Given the description of an element on the screen output the (x, y) to click on. 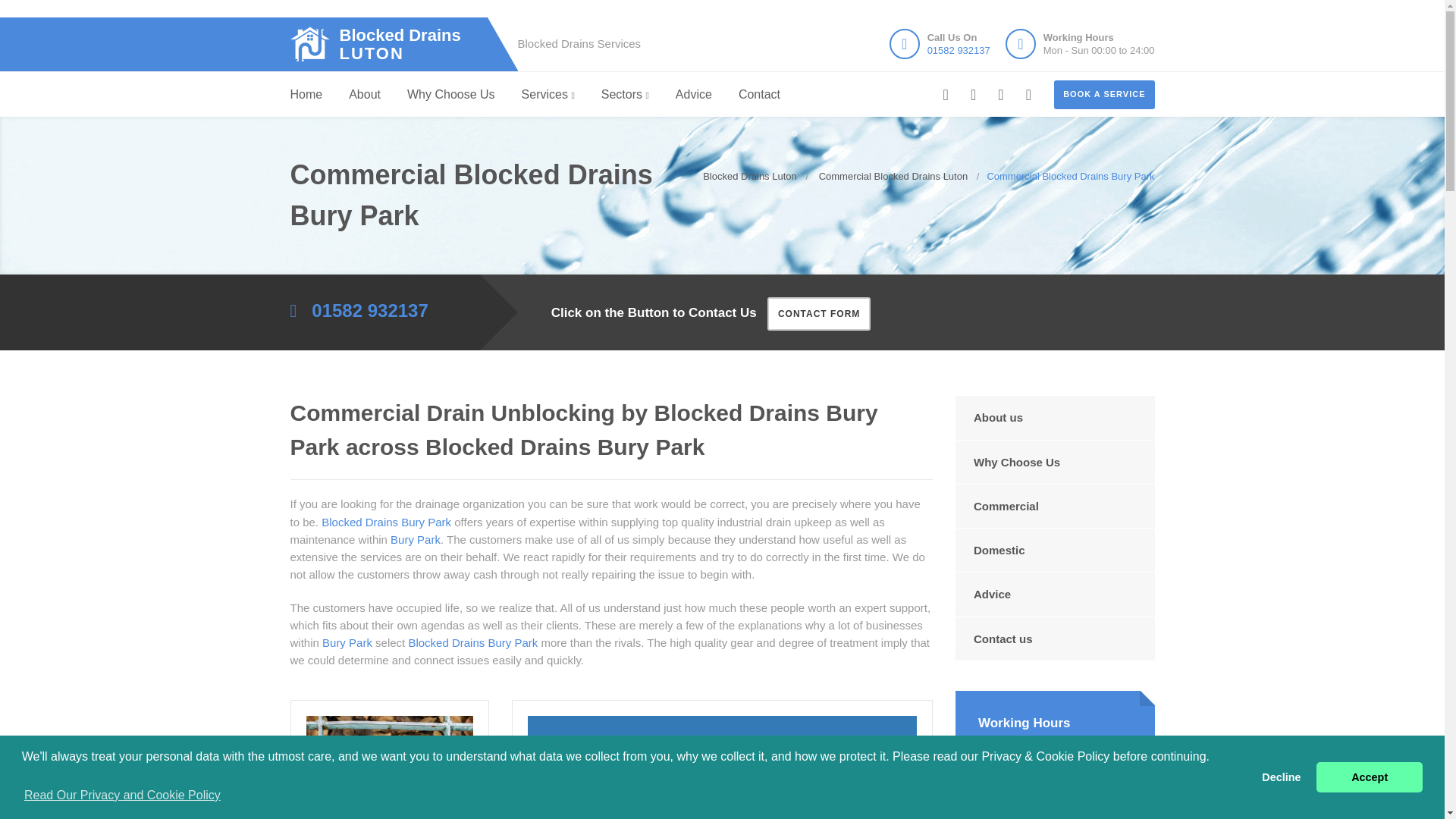
Read Our Privacy and Cookie Policy (121, 794)
Blocked Drains Luton (395, 44)
Accept (1369, 777)
Services (548, 94)
01582 932137 (395, 44)
BOOK A SERVICE (958, 50)
Decline (1104, 94)
Why Choose Us (1281, 777)
